Given the description of an element on the screen output the (x, y) to click on. 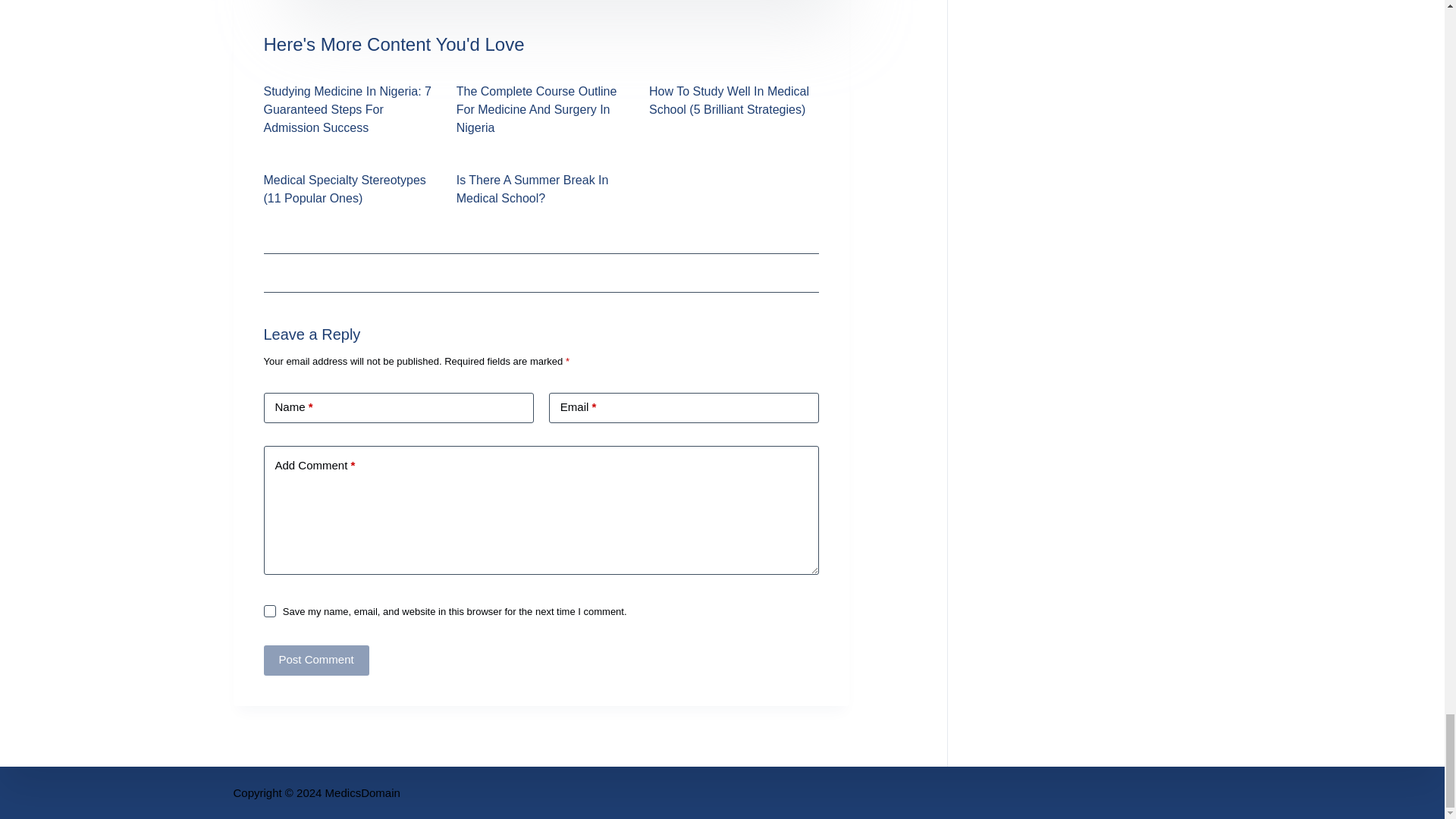
yes (269, 611)
